Given the description of an element on the screen output the (x, y) to click on. 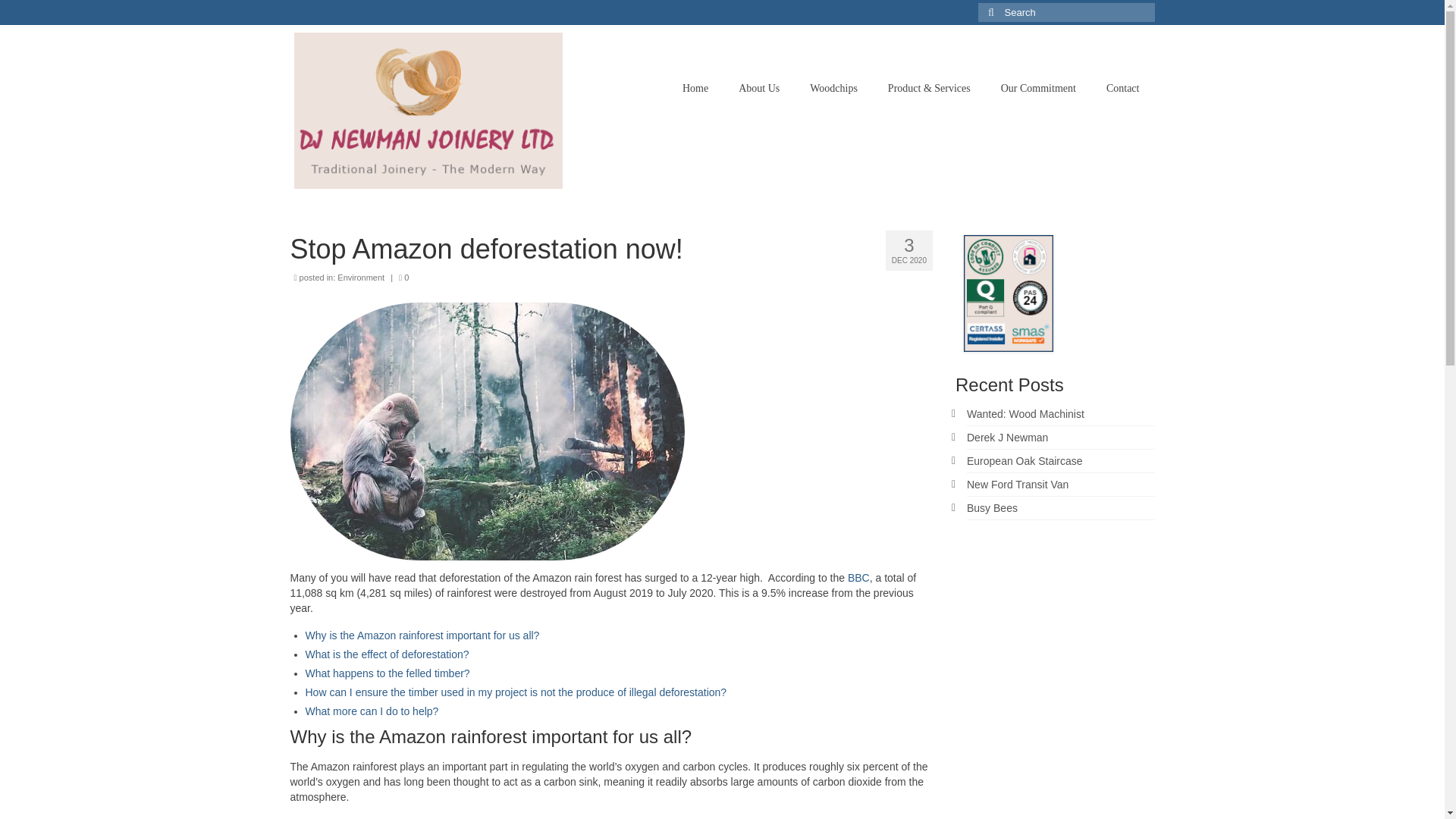
What happens to the felled timber? (386, 673)
BBC (858, 577)
About Us (758, 88)
What more can I do to help? (371, 711)
Our Commitment (1037, 88)
Environment (360, 276)
Contact (1122, 88)
Woodchips (833, 88)
What is the effect of deforestation? (386, 654)
